Given the description of an element on the screen output the (x, y) to click on. 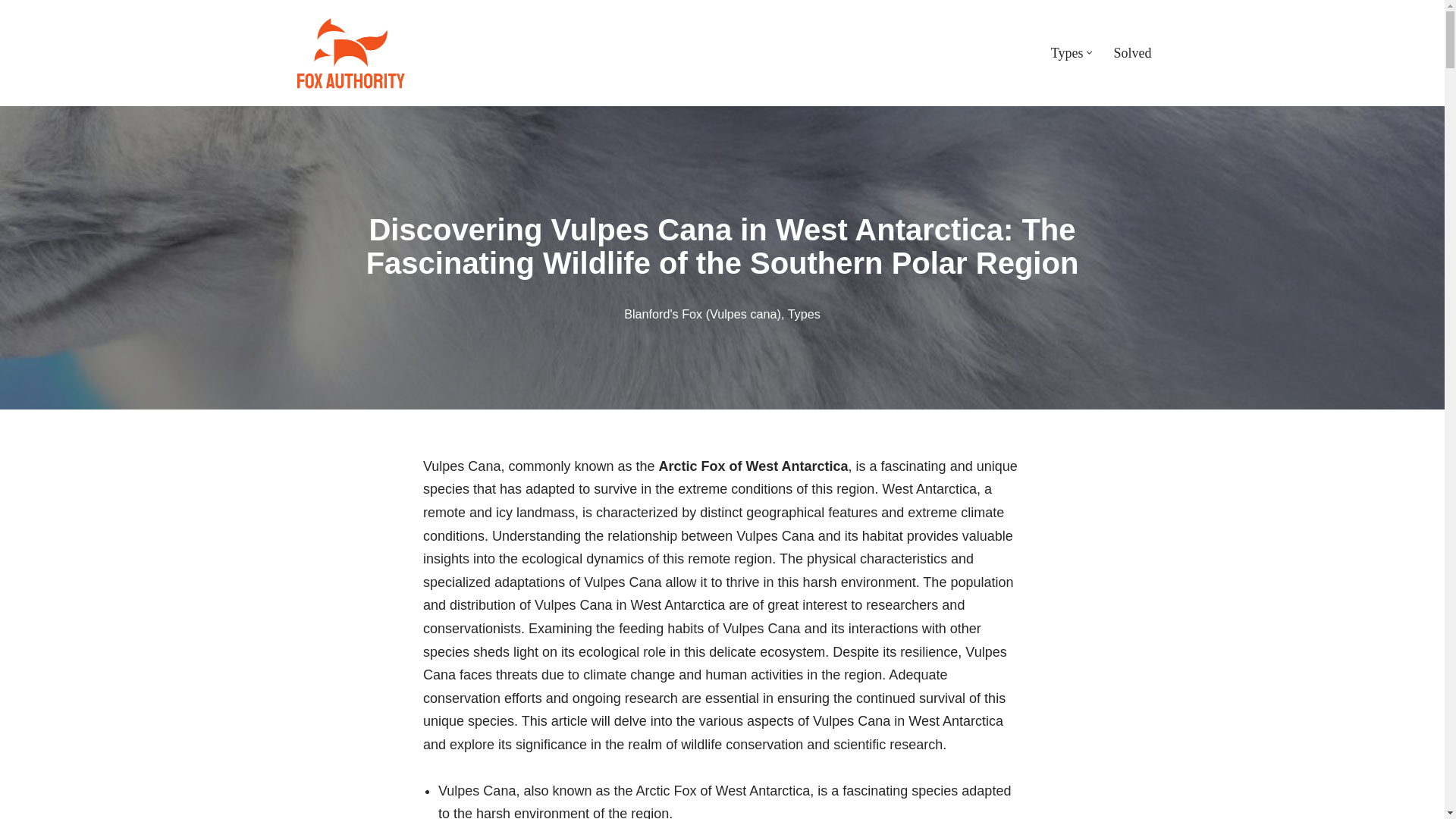
Skip to content (11, 31)
Types (1067, 52)
Solved (1132, 52)
Types (804, 314)
